Given the description of an element on the screen output the (x, y) to click on. 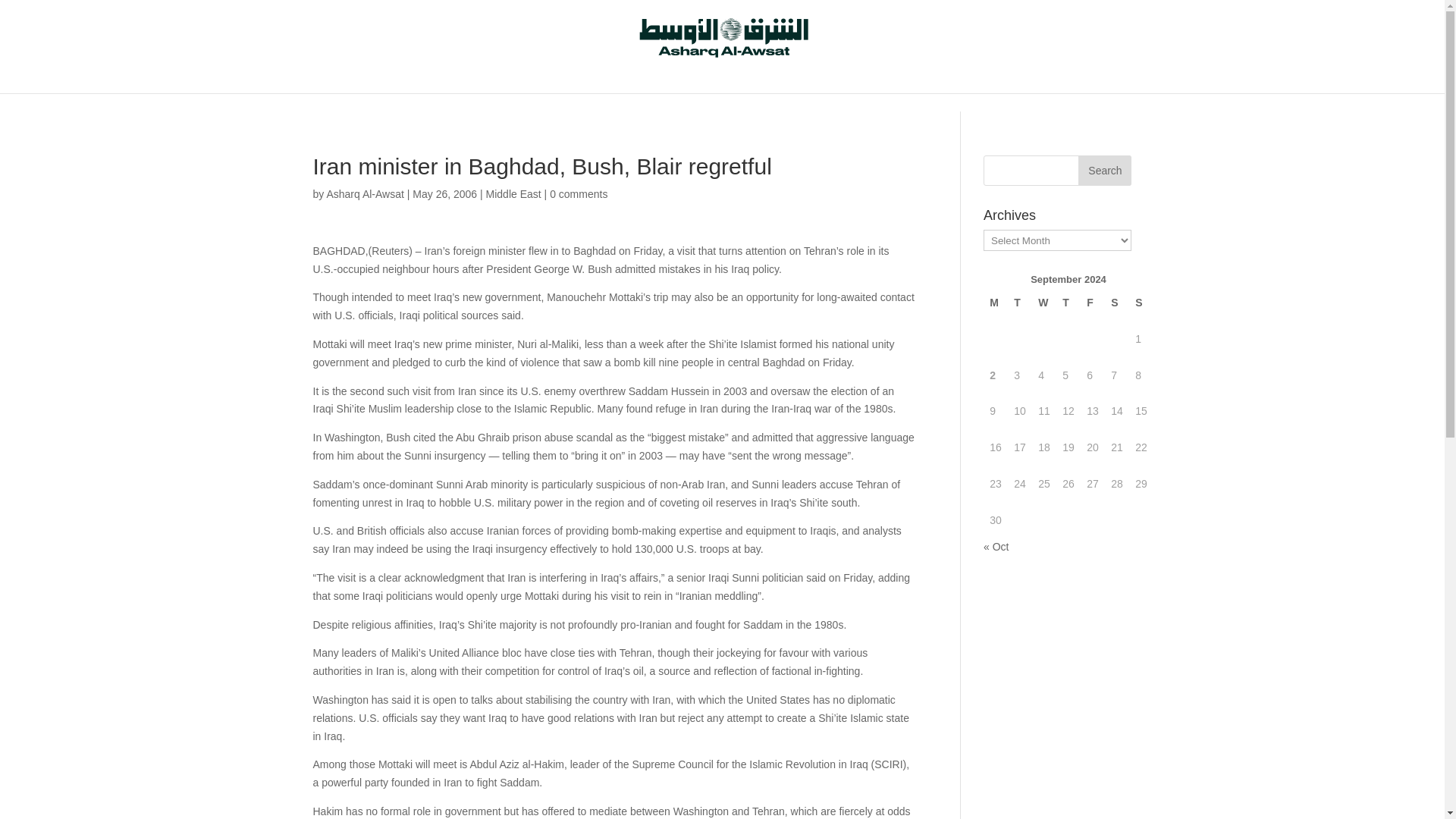
Posts by Asharq Al-Awsat (364, 193)
0 comments (578, 193)
Search (1104, 170)
Middle East (513, 193)
Asharq Al-Awsat (364, 193)
Search (1104, 170)
